Given the description of an element on the screen output the (x, y) to click on. 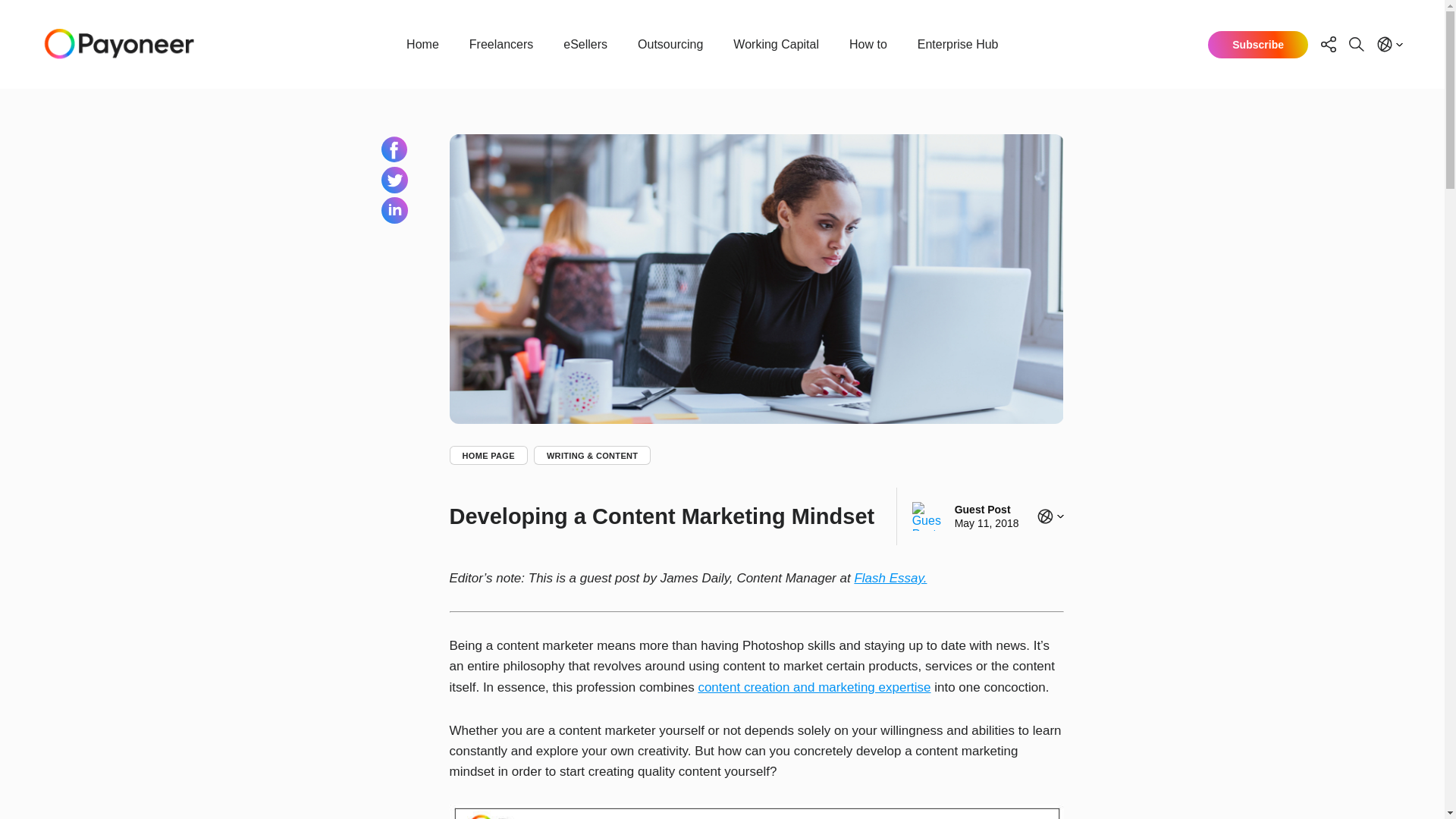
Payoneer blog logo (119, 44)
Enterprise Hub (957, 44)
Share on LinkedIn (393, 210)
Tweet This Post (393, 180)
Home (422, 44)
Outsourcing (670, 44)
Freelancers (501, 44)
Share on Facebook (393, 149)
Working Capital (775, 44)
Subscribe (1257, 43)
